Given the description of an element on the screen output the (x, y) to click on. 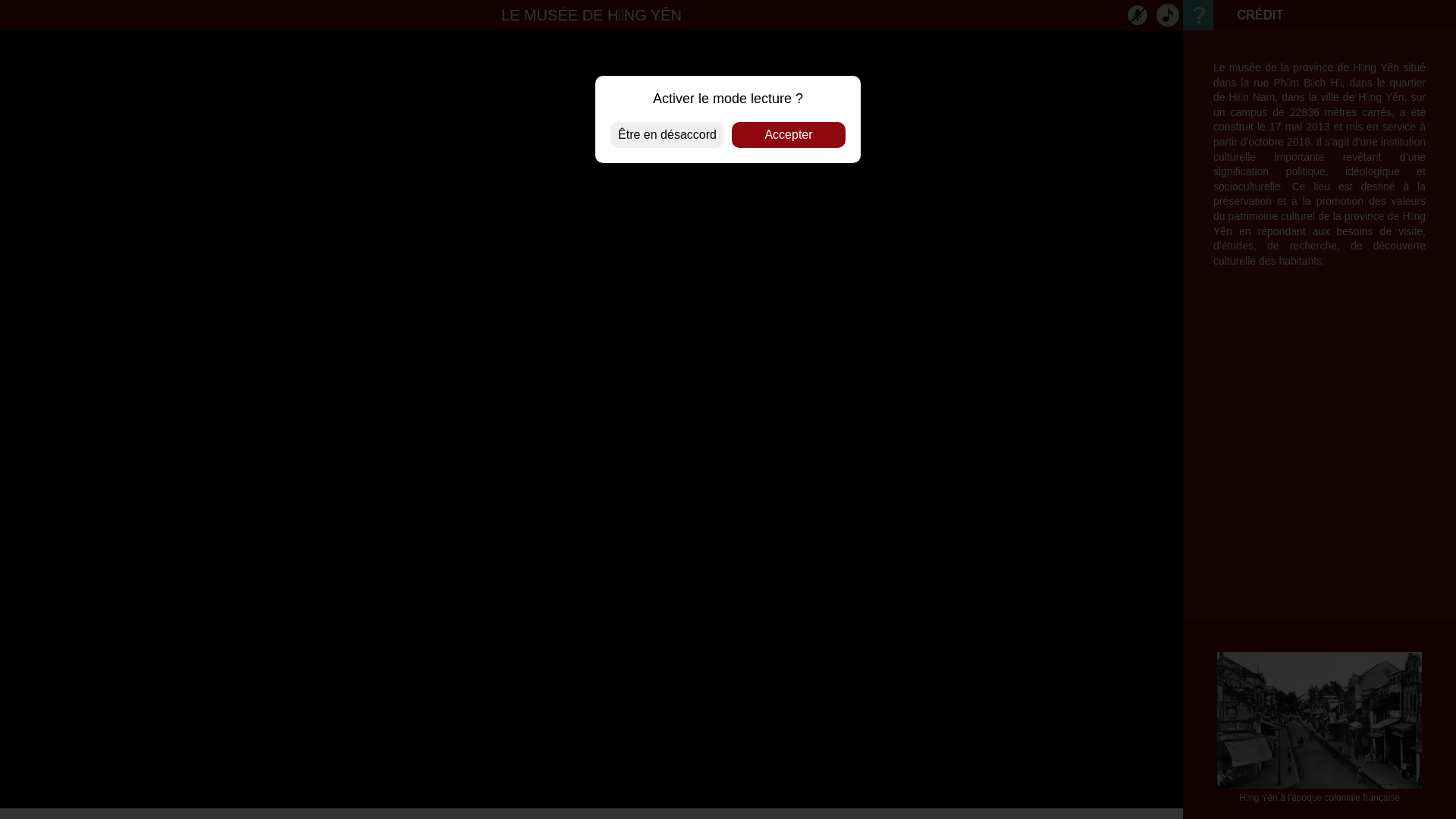
Accepter Element type: text (788, 134)
